Given the description of an element on the screen output the (x, y) to click on. 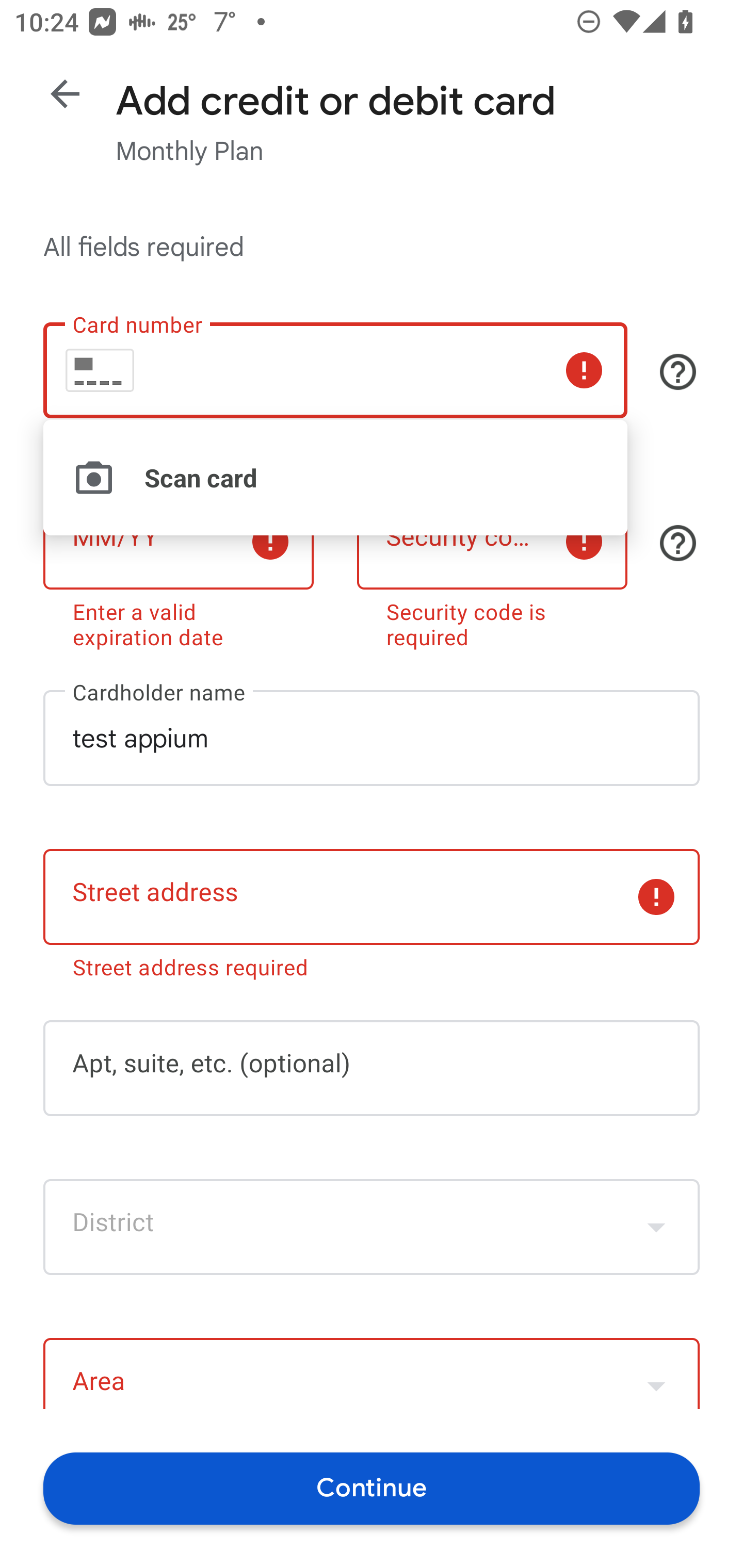
Back (64, 93)
Card number (335, 370)
Button, shows cards that are accepted for payment (677, 371)
Security code Error Security code is required (492, 567)
Security code help (677, 543)
test appium (371, 737)
Street address (371, 896)
Apt, suite, etc. (optional) (371, 1068)
District (371, 1226)
Show dropdown menu (655, 1226)
Area (371, 1373)
Show dropdown menu (655, 1375)
Continue (371, 1487)
